Given the description of an element on the screen output the (x, y) to click on. 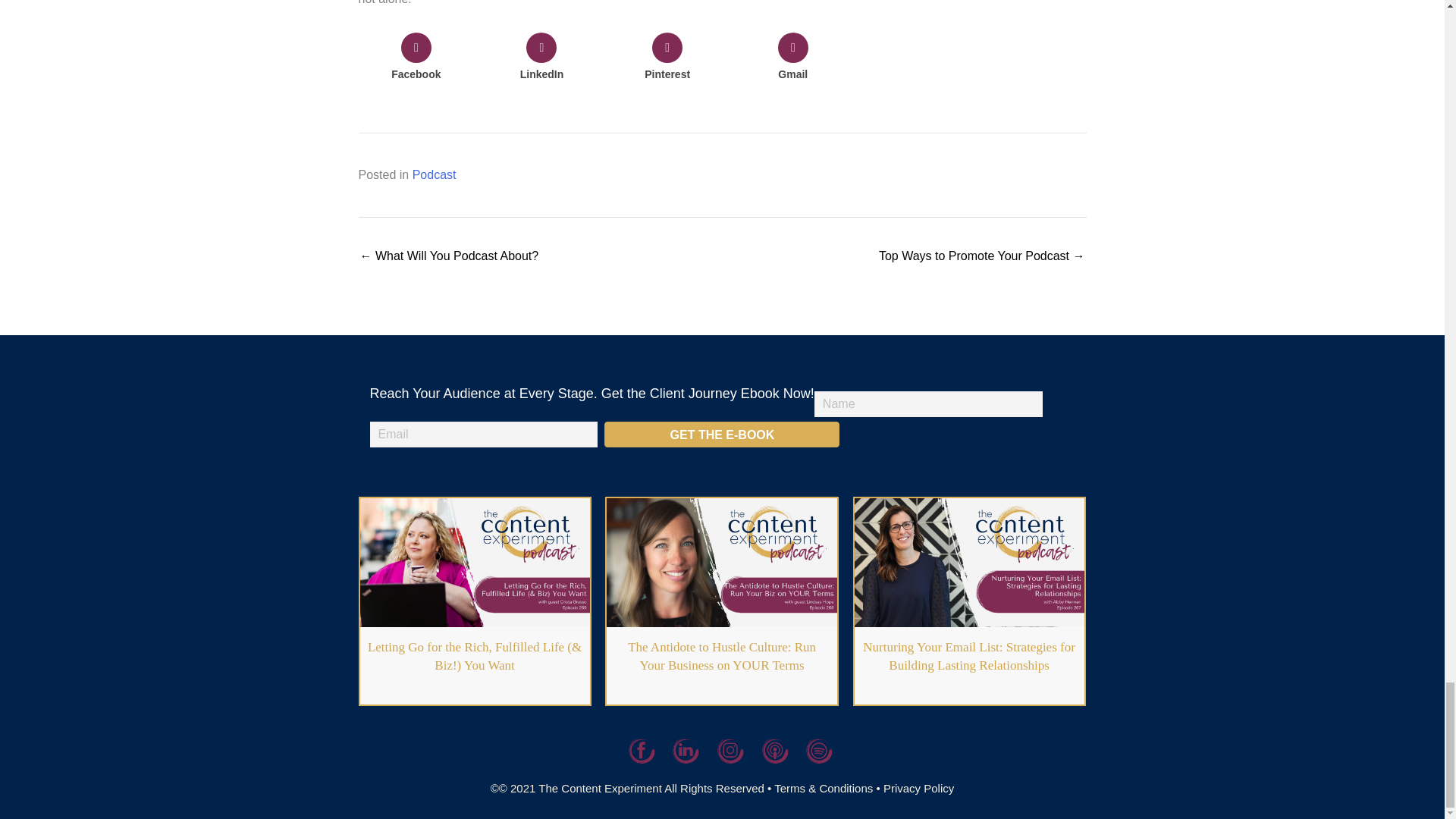
Gmail (792, 59)
Pinterest (667, 59)
LinkedIn (541, 59)
Facebook (416, 59)
